Given the description of an element on the screen output the (x, y) to click on. 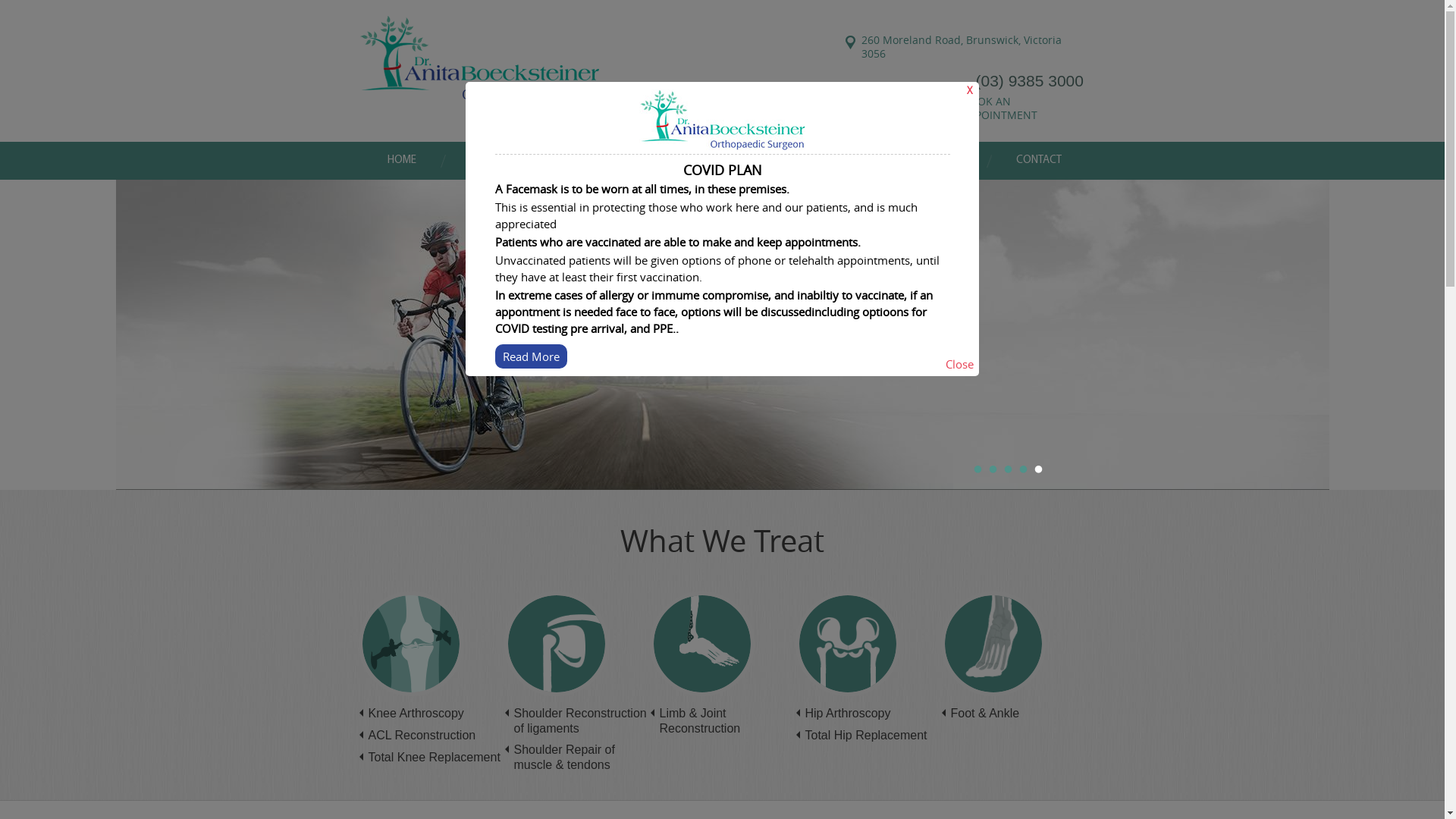
Hip Arthroscopy Element type: text (848, 712)
Total Hip Replacement Element type: text (866, 734)
Shoulder Repair of muscle & tendons Element type: text (564, 757)
BOOK AN APPOINTMENT Element type: text (1023, 108)
(03) 9385 3000 Element type: text (1028, 80)
Shoulder Reconstruction of ligaments Element type: text (580, 720)
ABOUT Element type: text (489, 160)
ACL Reconstruction Element type: text (422, 734)
REFERRERS Element type: text (816, 160)
260 Moreland Road, Brunswick, Victoria 3056 Element type: text (965, 46)
FIRST VISIT Element type: text (933, 160)
TREATMENTS Element type: text (703, 160)
Read More Element type: text (530, 356)
Knee Arthroscopy Element type: text (416, 712)
HOME Element type: text (401, 160)
CONTACT Element type: text (1038, 160)
What We Treat Element type: text (722, 540)
Limb & Joint Reconstruction Element type: text (699, 720)
CONDITIONS Element type: text (591, 160)
Total Knee Replacement Element type: text (434, 756)
Foot & Ankle Element type: text (984, 712)
